Given the description of an element on the screen output the (x, y) to click on. 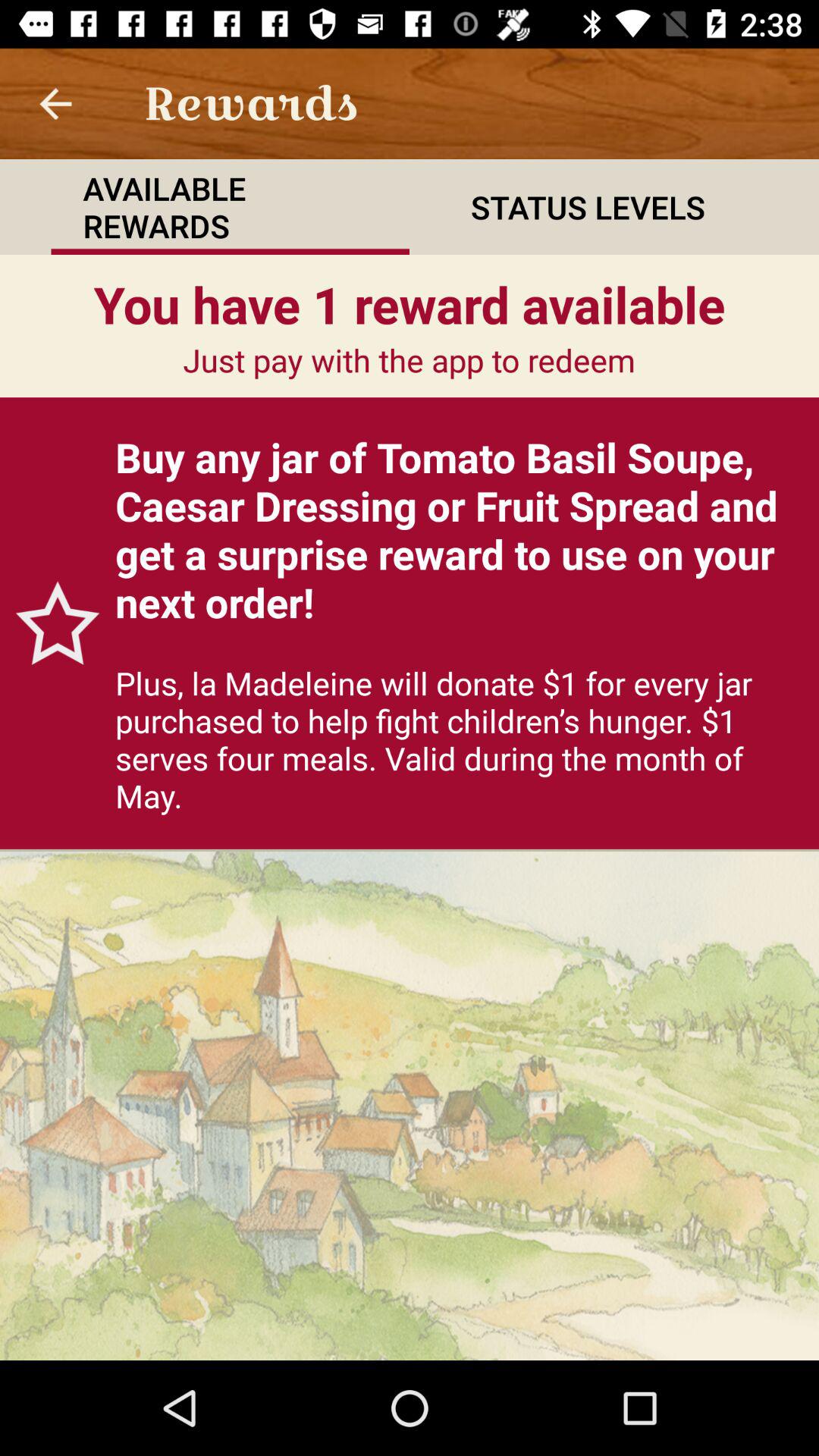
open icon above the plus la madeleine item (459, 529)
